Given the description of an element on the screen output the (x, y) to click on. 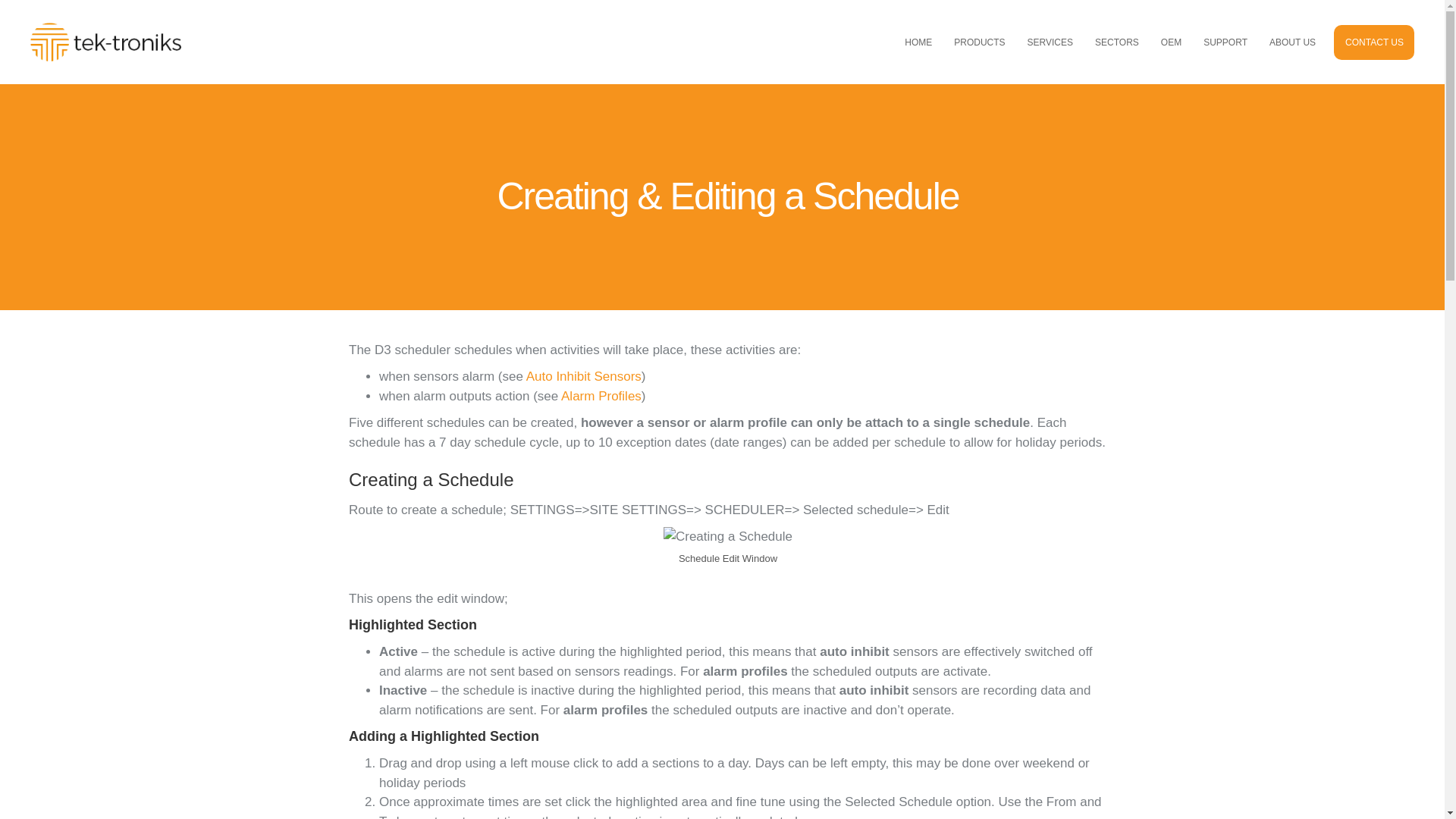
CONTACT US (1374, 41)
ABOUT US (1292, 41)
OEM (1171, 41)
HOME (917, 41)
Auto Inhibit Sensors (583, 376)
PRODUCTS (978, 41)
Alarm Profiles (601, 395)
SUPPORT (1224, 41)
SECTORS (1117, 41)
SERVICES (1049, 41)
